Given the description of an element on the screen output the (x, y) to click on. 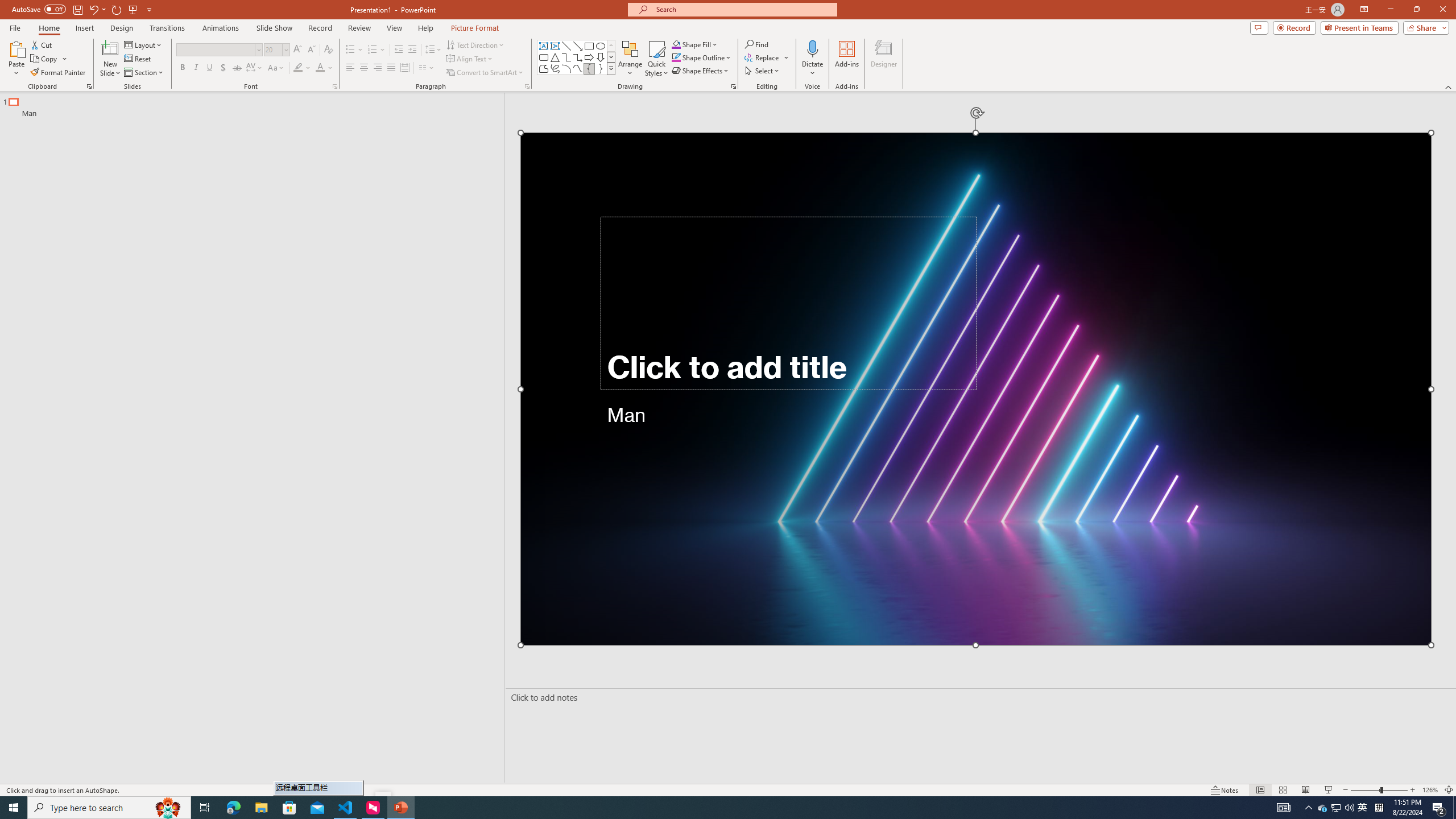
Zoom 126% (1430, 790)
